Given the description of an element on the screen output the (x, y) to click on. 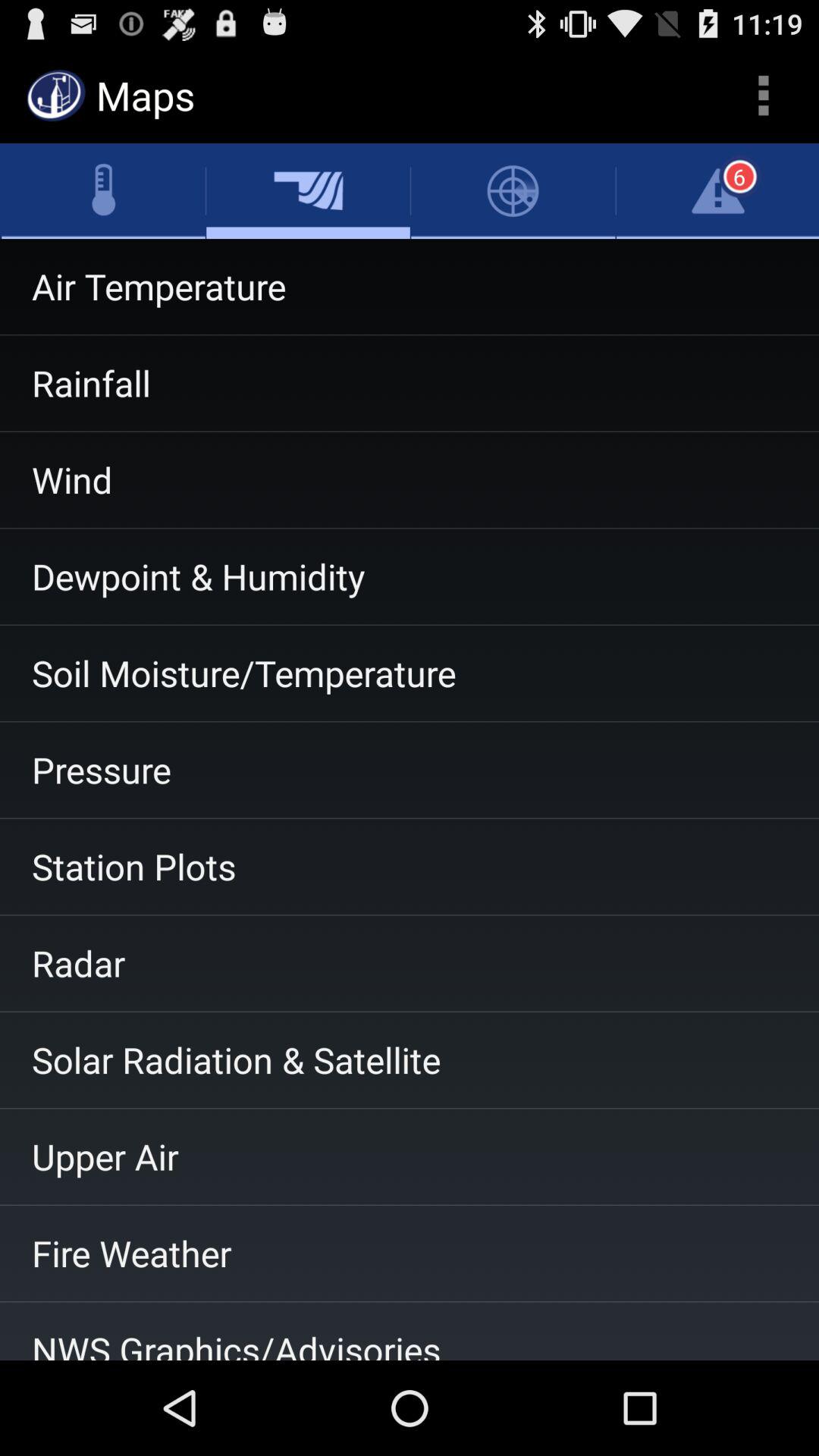
flip until dewpoint & humidity icon (409, 576)
